Given the description of an element on the screen output the (x, y) to click on. 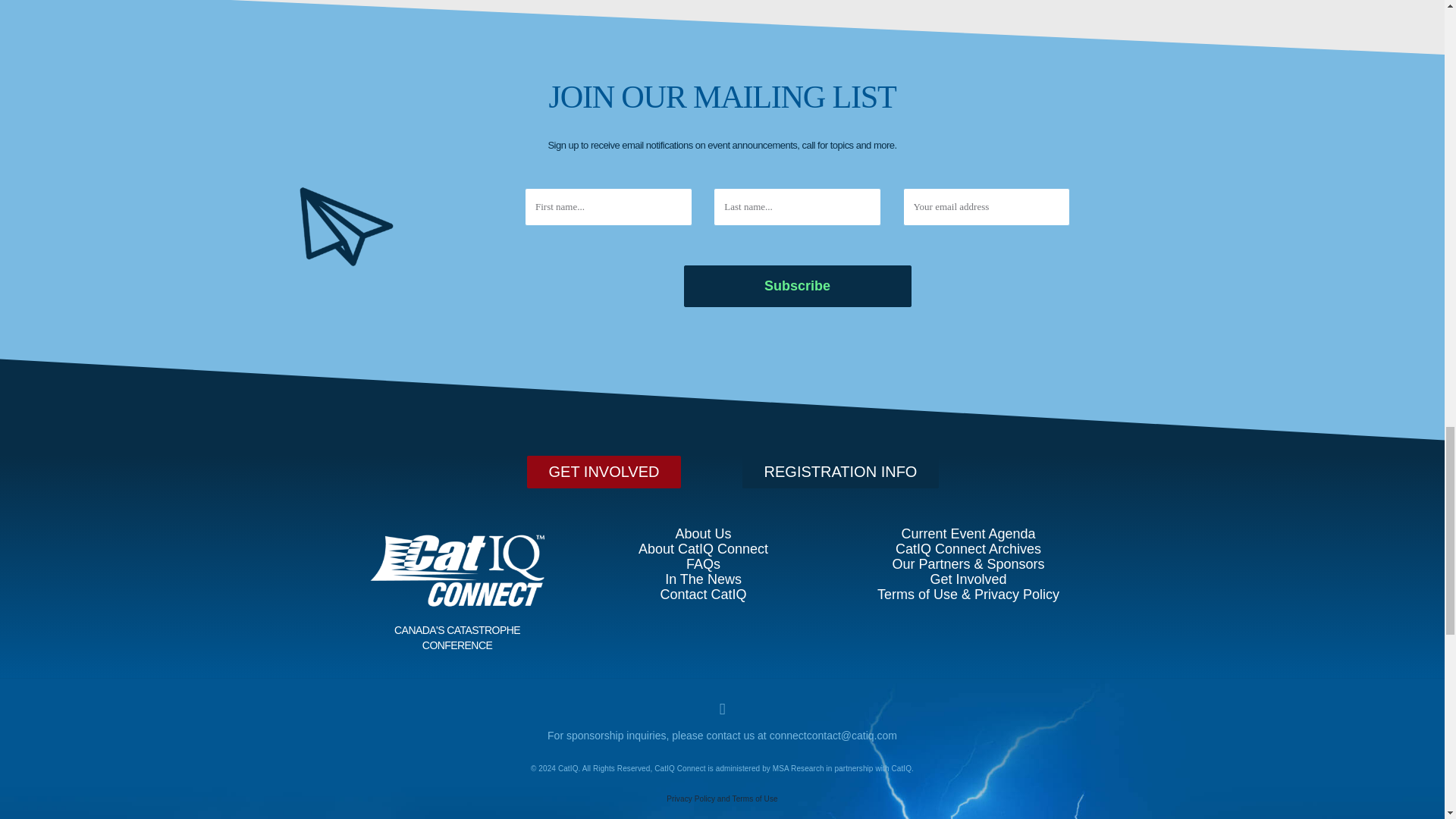
Subscribe (797, 255)
